Given the description of an element on the screen output the (x, y) to click on. 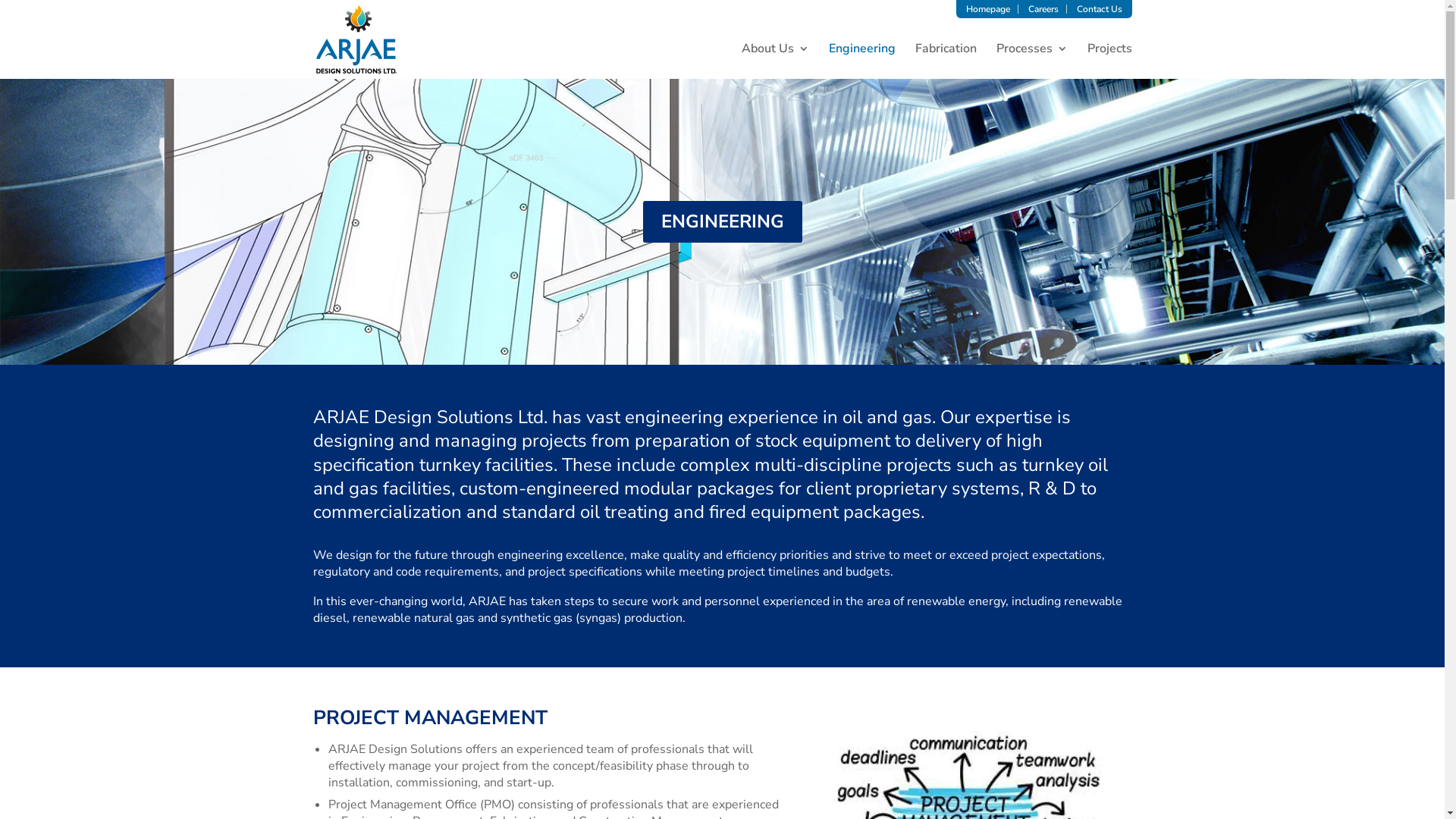
Contact Us Element type: text (1099, 8)
Engineering Element type: text (861, 60)
About Us Element type: text (775, 60)
Careers Element type: text (1043, 8)
Fabrication Element type: text (944, 60)
Processes Element type: text (1031, 60)
ENGINEERING Element type: text (722, 221)
Projects Element type: text (1109, 60)
Homepage Element type: text (988, 8)
